Given the description of an element on the screen output the (x, y) to click on. 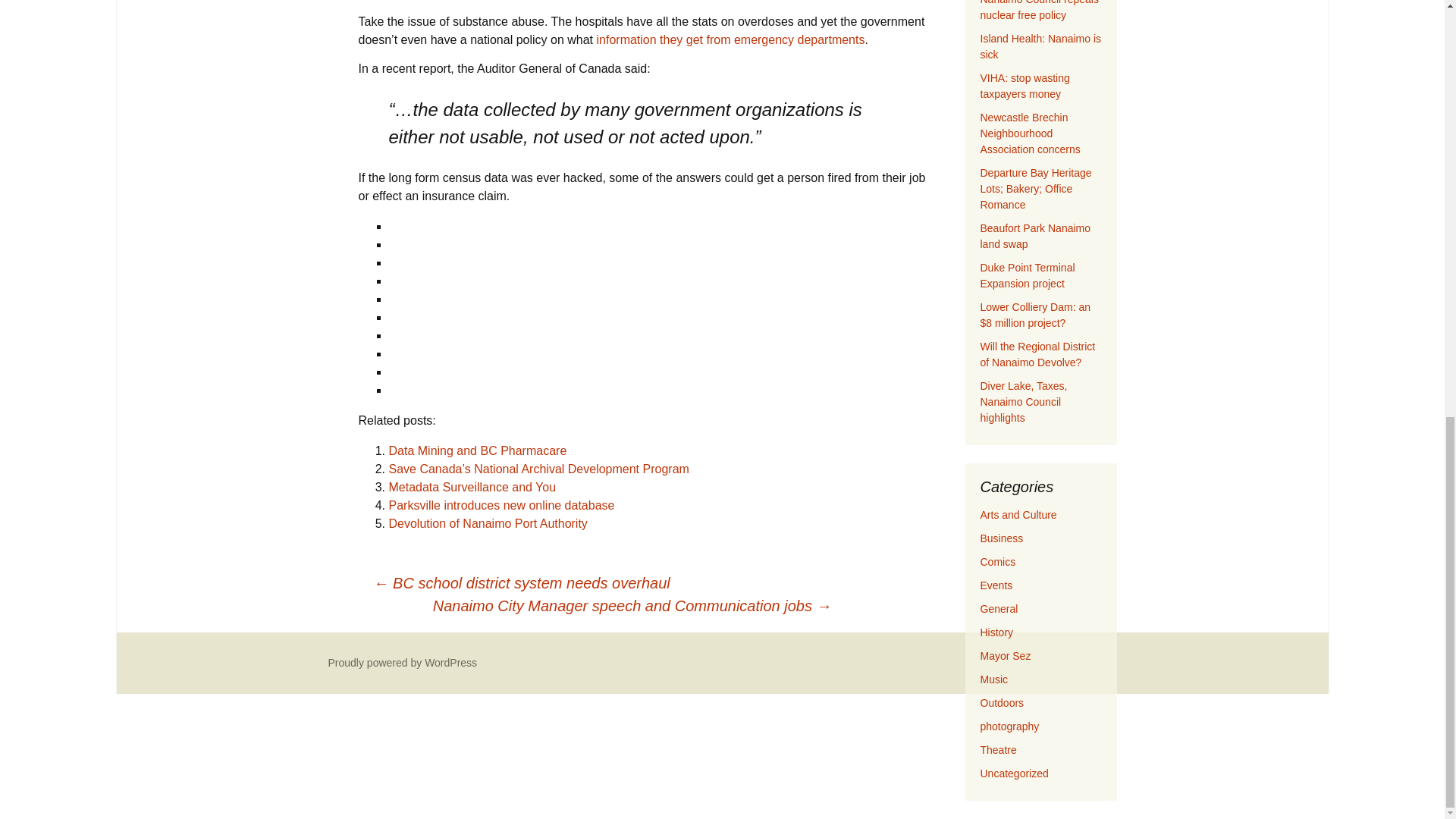
information they get from emergency departments (729, 39)
